Given the description of an element on the screen output the (x, y) to click on. 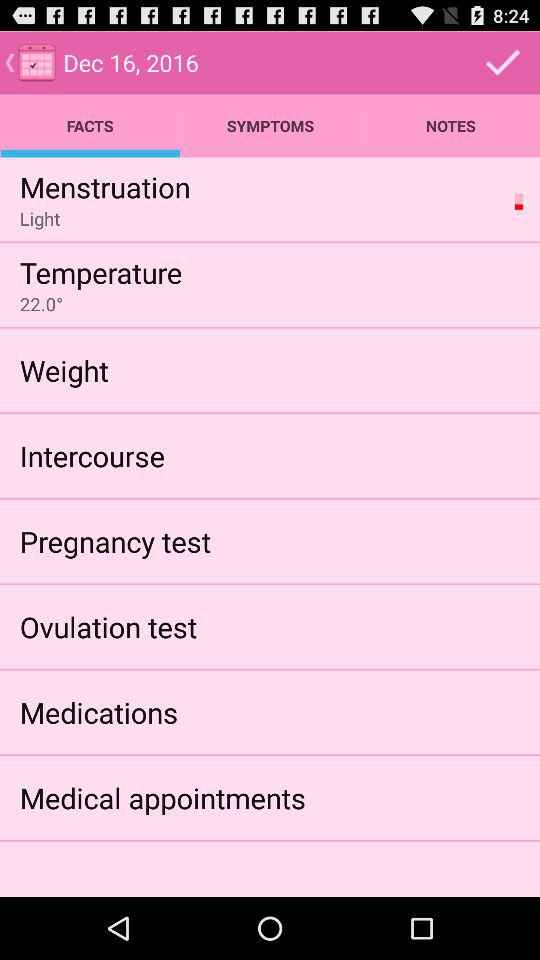
launch the icon below intercourse (115, 540)
